Given the description of an element on the screen output the (x, y) to click on. 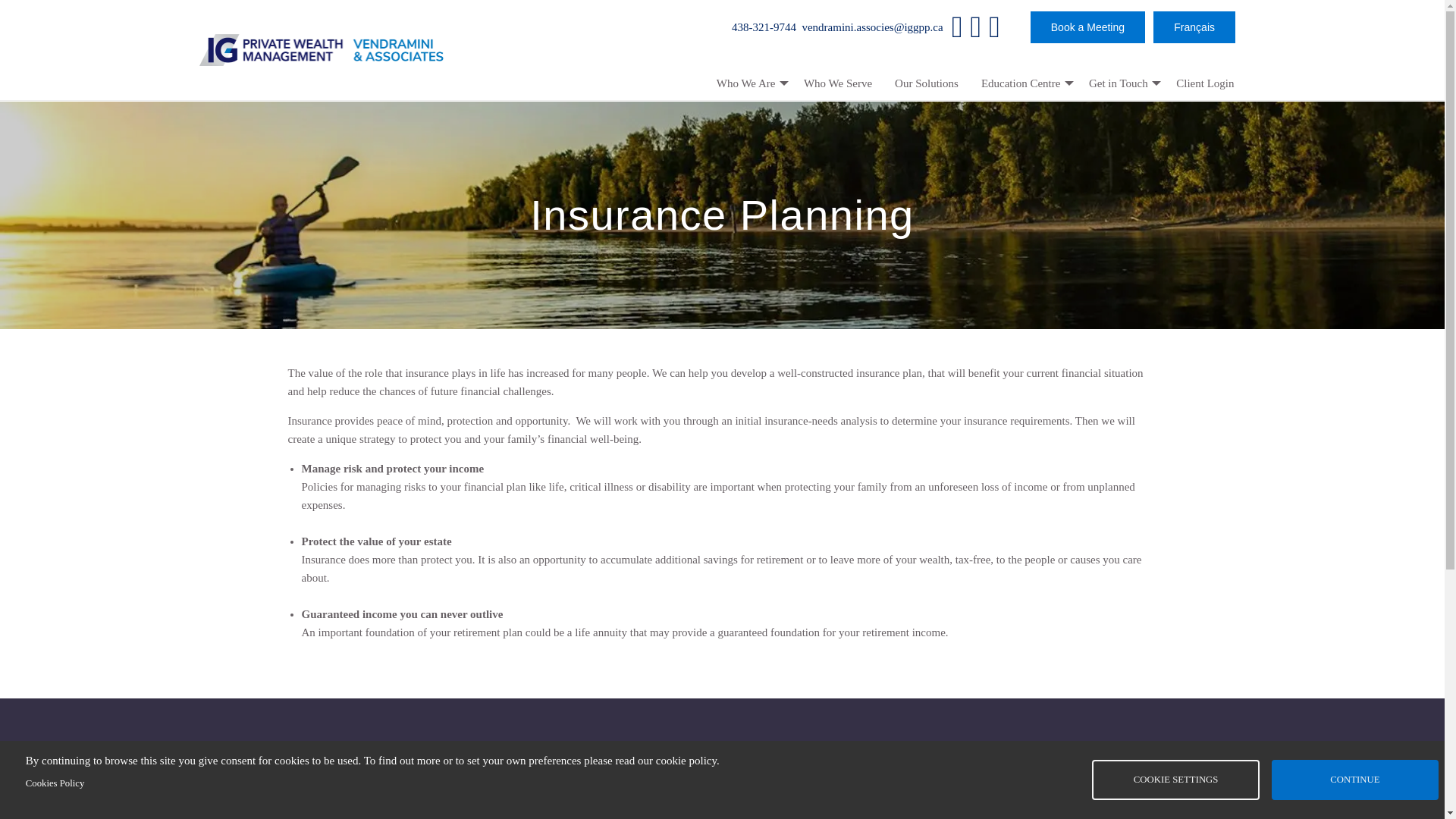
Who We Serve (837, 82)
Book a Meeting (1087, 27)
Book a Meeting (1087, 27)
Our Solutions (926, 82)
Our Solutions (926, 82)
438-321-9744 (764, 27)
Who We Are (748, 82)
Client Login (1204, 82)
Get in Touch (1120, 82)
Who We Serve (837, 82)
438-321-9744 (721, 785)
Education Centre (1023, 82)
